Given the description of an element on the screen output the (x, y) to click on. 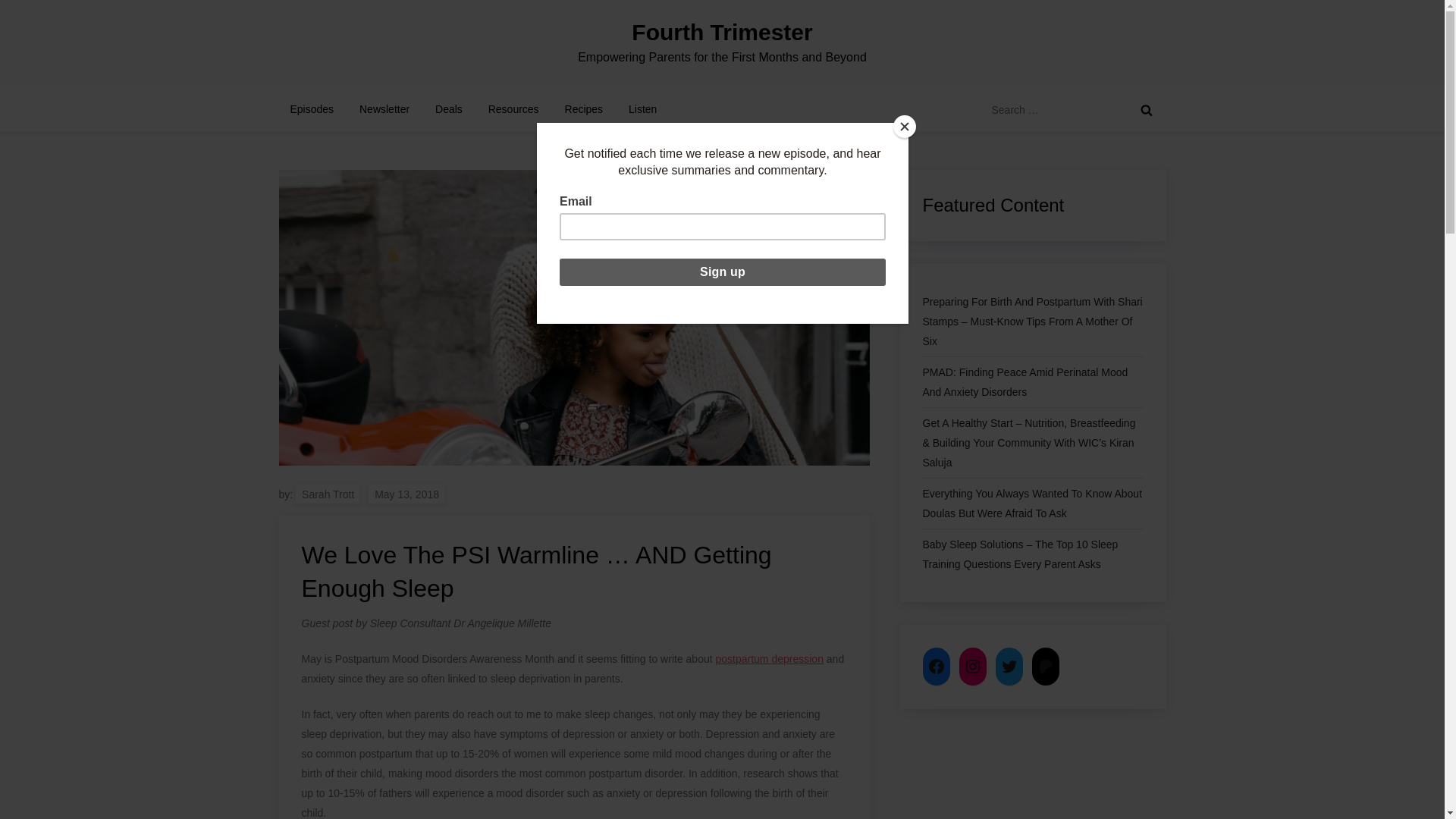
Newsletter (383, 108)
Fourth Trimester (721, 32)
Deals (448, 108)
Episodes (312, 108)
Recipes (583, 108)
May 13, 2018 (406, 493)
Resources (513, 108)
postpartum depression (770, 658)
Sarah Trott (327, 493)
Listen (642, 108)
